Given the description of an element on the screen output the (x, y) to click on. 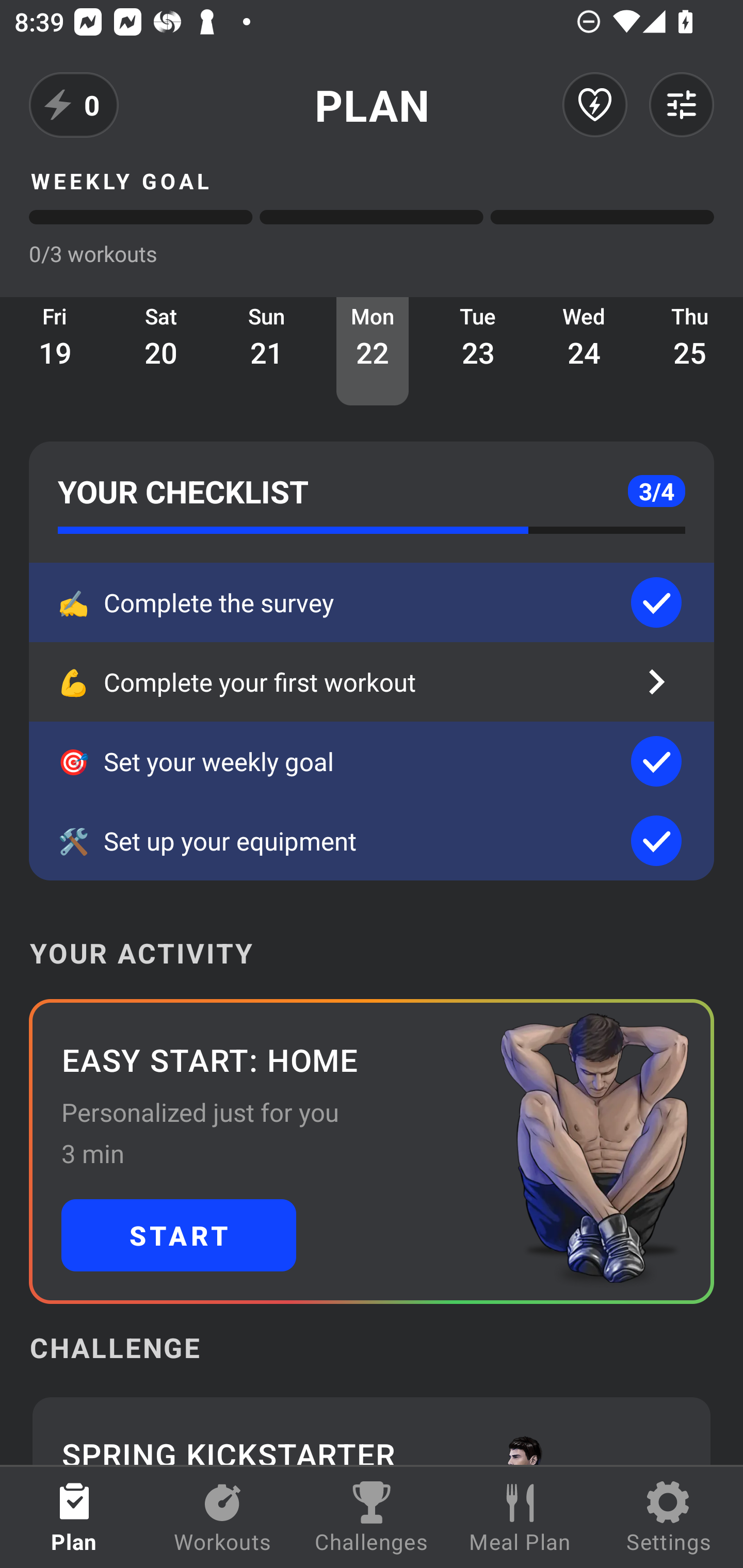
0 (73, 104)
Fri 19 (55, 351)
Sat 20 (160, 351)
Sun 21 (266, 351)
Mon 22 (372, 351)
Tue 23 (478, 351)
Wed 24 (584, 351)
Thu 25 (690, 351)
💪 Complete your first workout (371, 681)
START (178, 1235)
 Workouts  (222, 1517)
 Challenges  (371, 1517)
 Meal Plan  (519, 1517)
 Settings  (668, 1517)
